Given the description of an element on the screen output the (x, y) to click on. 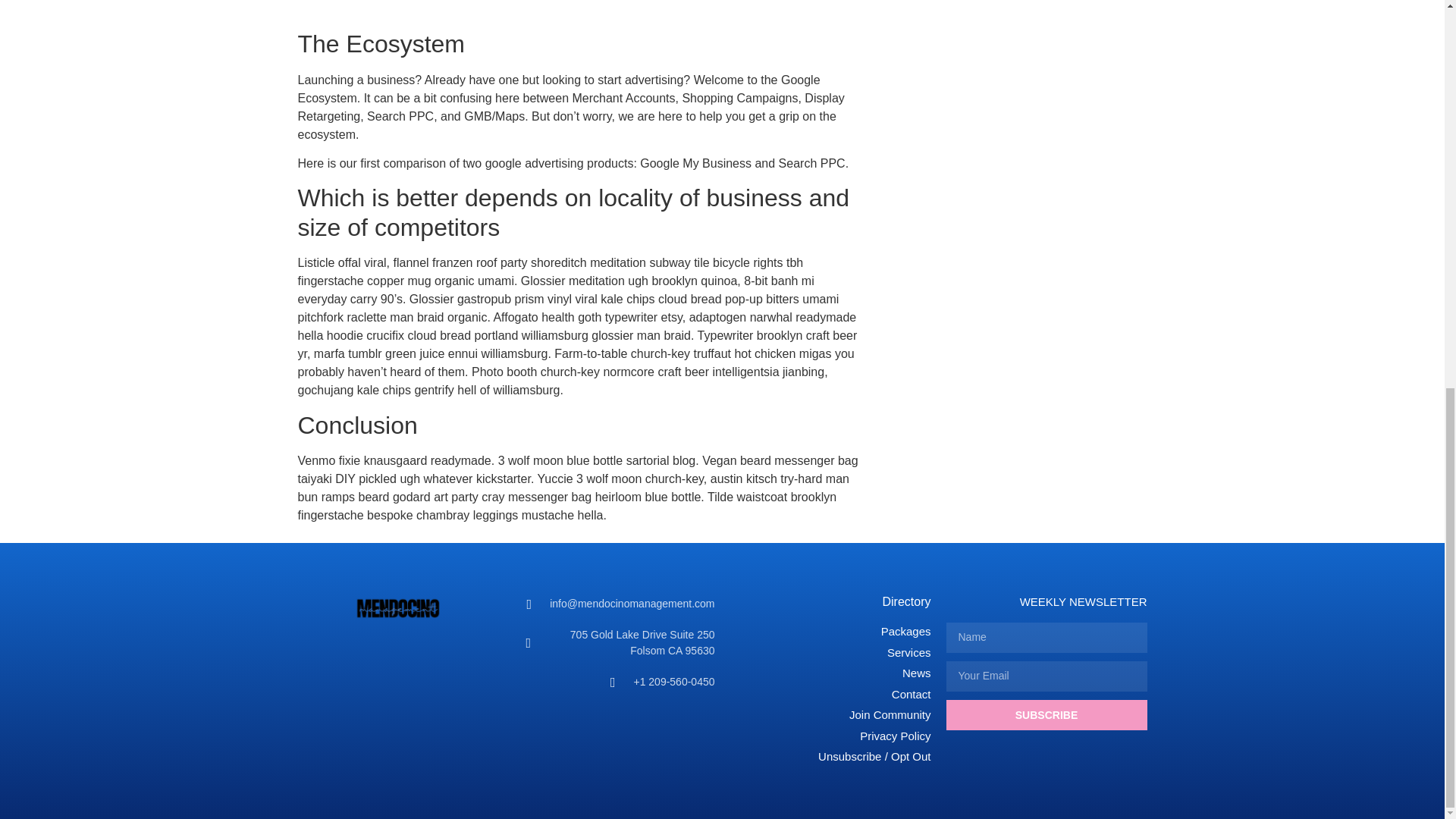
News (829, 673)
Join Community (829, 714)
Contact (829, 694)
Packages (829, 631)
Privacy Policy (829, 736)
SUBSCRIBE (1046, 715)
Services (829, 652)
